Given the description of an element on the screen output the (x, y) to click on. 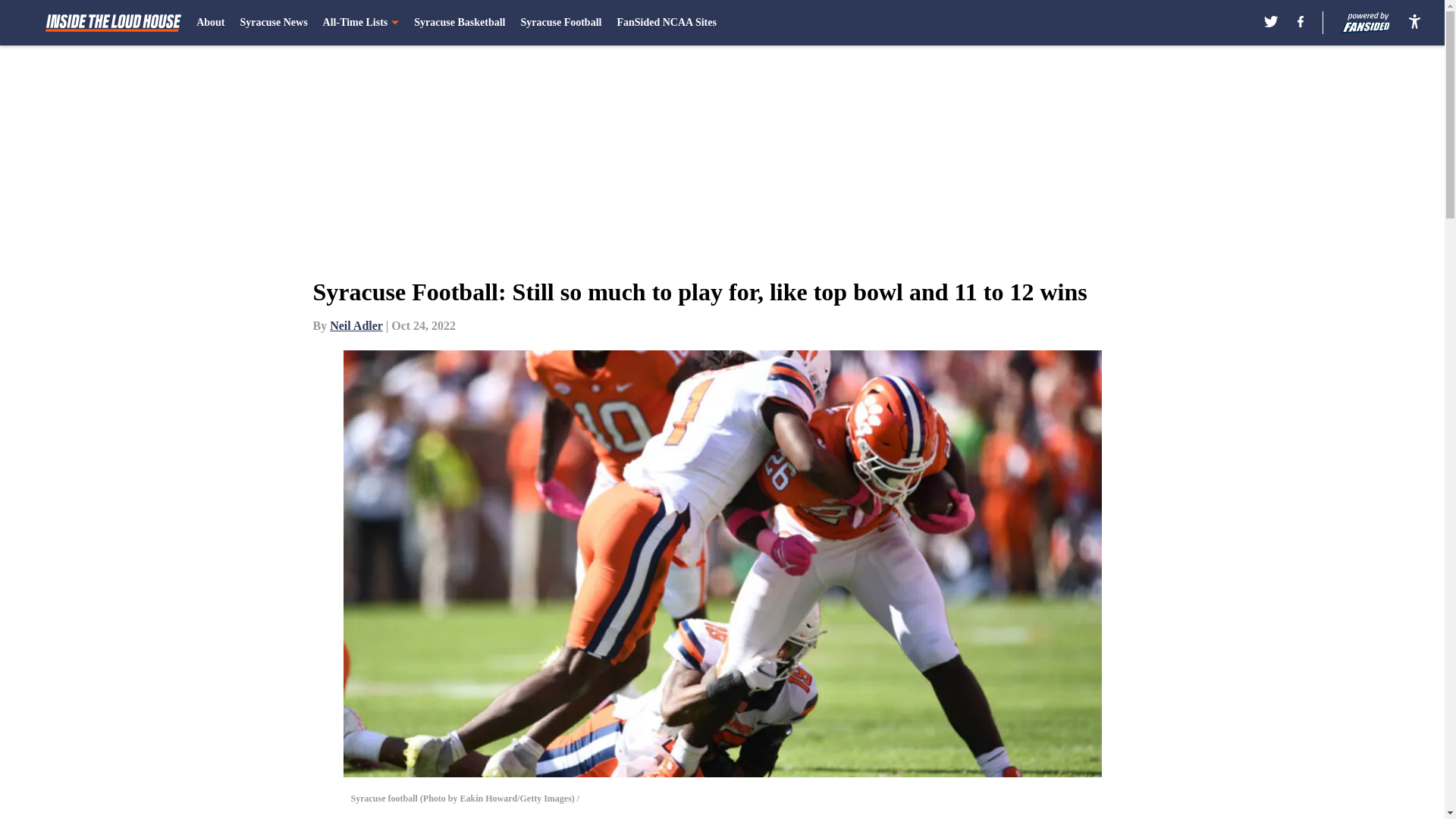
About (210, 22)
Syracuse Basketball (459, 22)
FanSided NCAA Sites (665, 22)
Syracuse Football (560, 22)
Syracuse News (273, 22)
Neil Adler (355, 325)
